Given the description of an element on the screen output the (x, y) to click on. 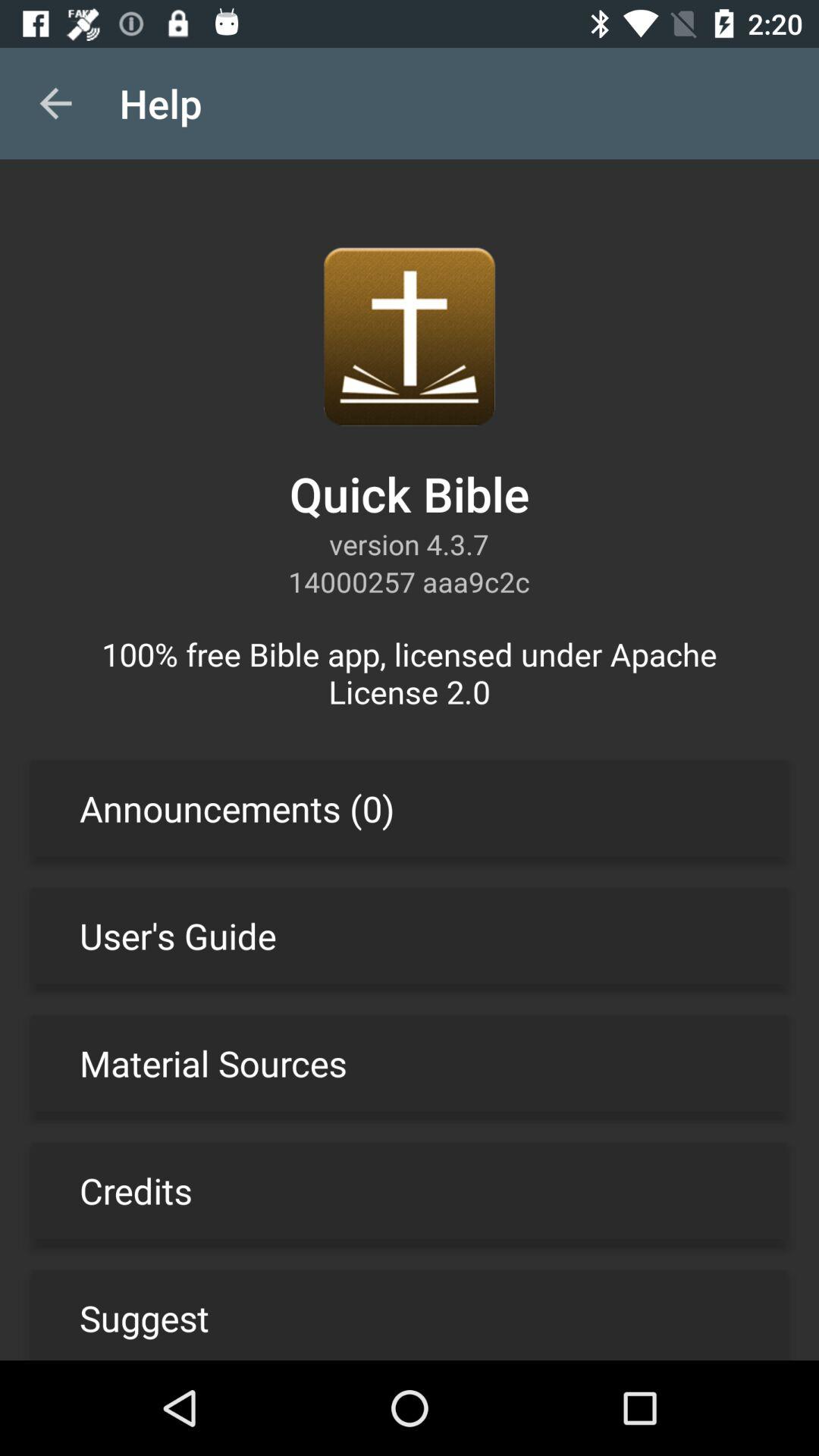
tap the item above the 100 free bible (55, 103)
